Given the description of an element on the screen output the (x, y) to click on. 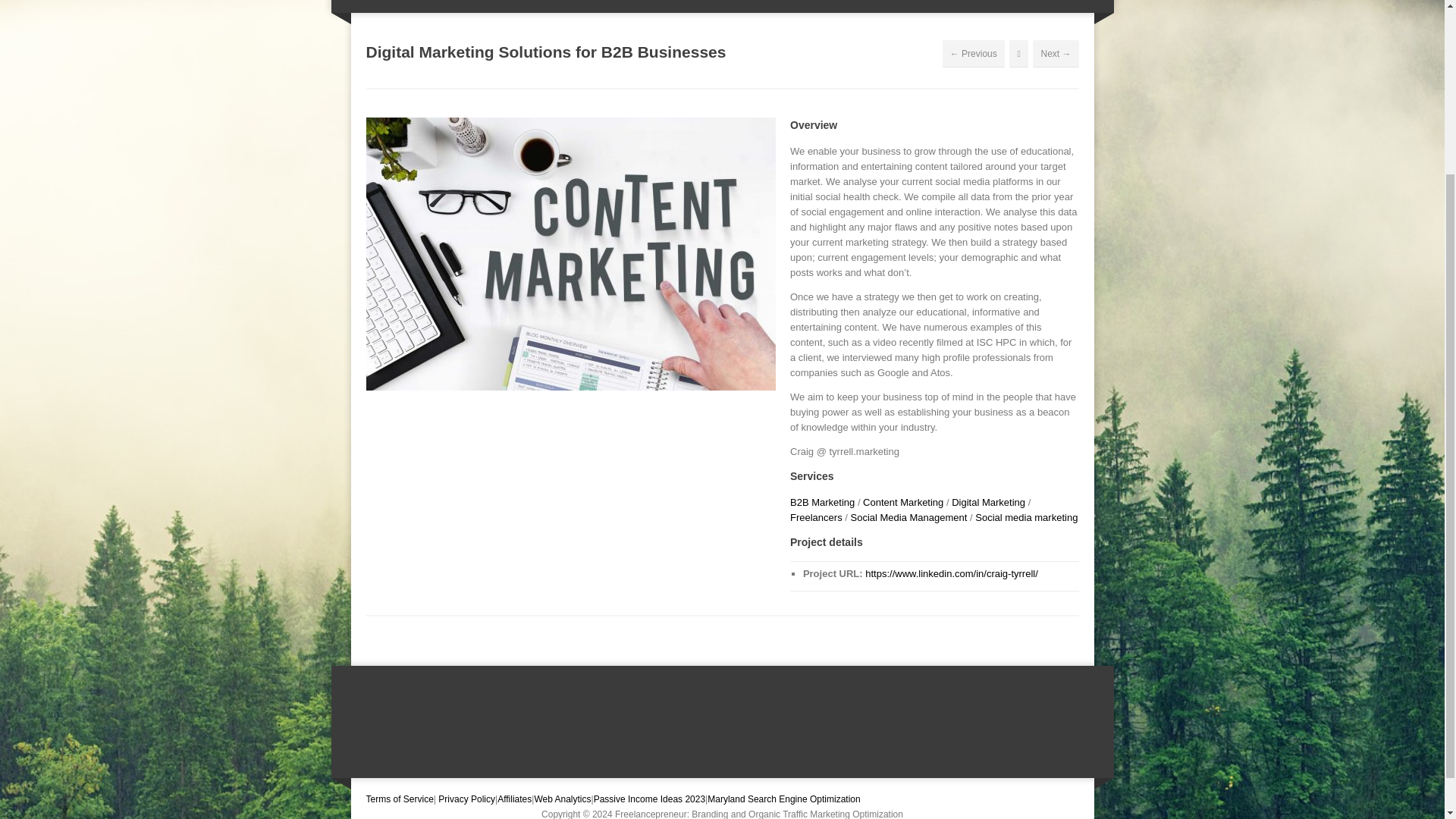
Digital Marketing (988, 501)
Freelancers (816, 517)
Terms of Service (398, 798)
Web Analytics (562, 798)
Social Media Management (908, 517)
B2B Marketing (822, 501)
Maryland Search Engine Optimization (783, 798)
Passive Income Ideas 2023 (649, 798)
Content Marketing (903, 501)
Privacy Policy (466, 798)
Affiliates (514, 798)
Social media marketing (1026, 517)
